Given the description of an element on the screen output the (x, y) to click on. 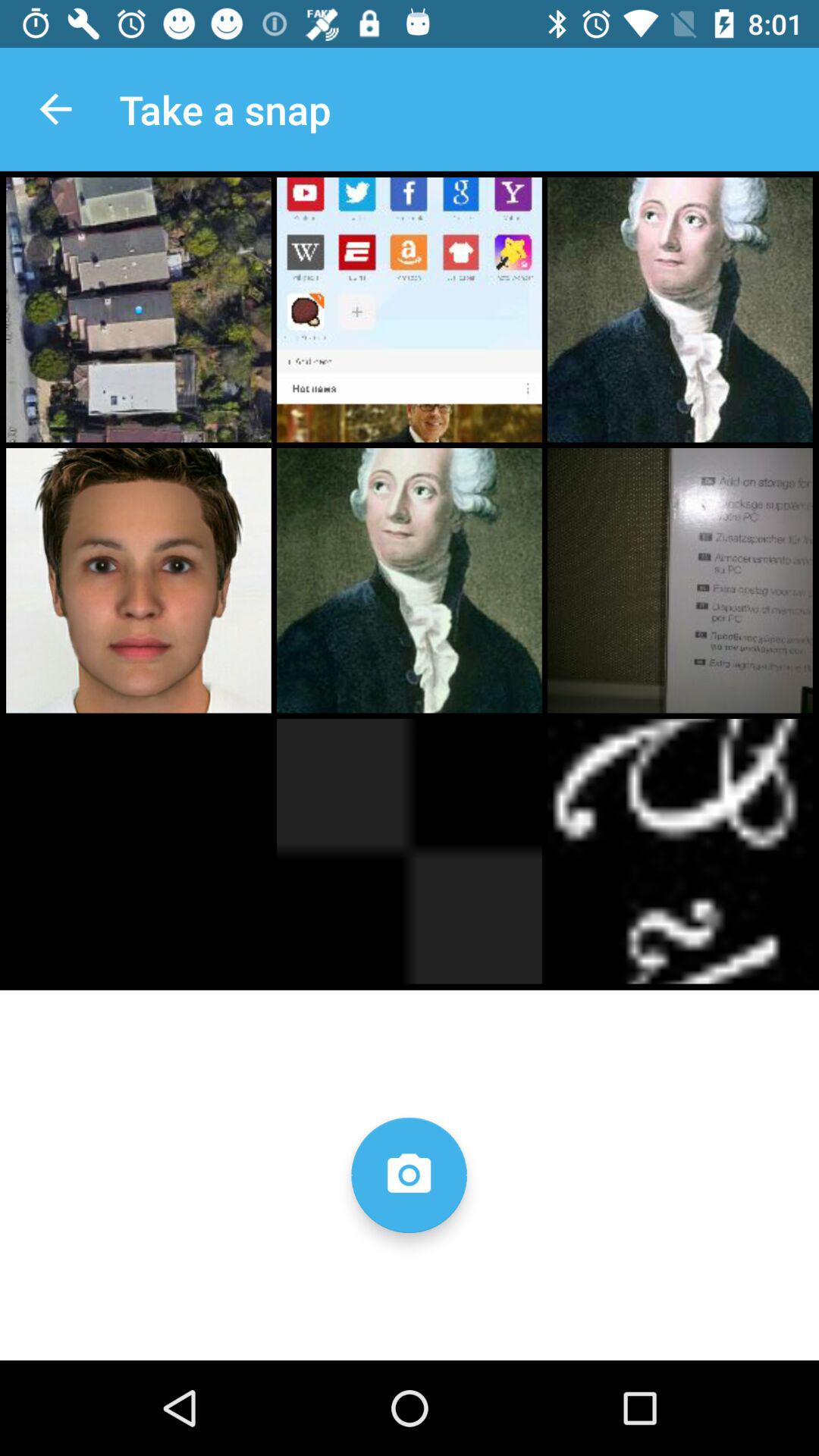
take photo (408, 1175)
